Given the description of an element on the screen output the (x, y) to click on. 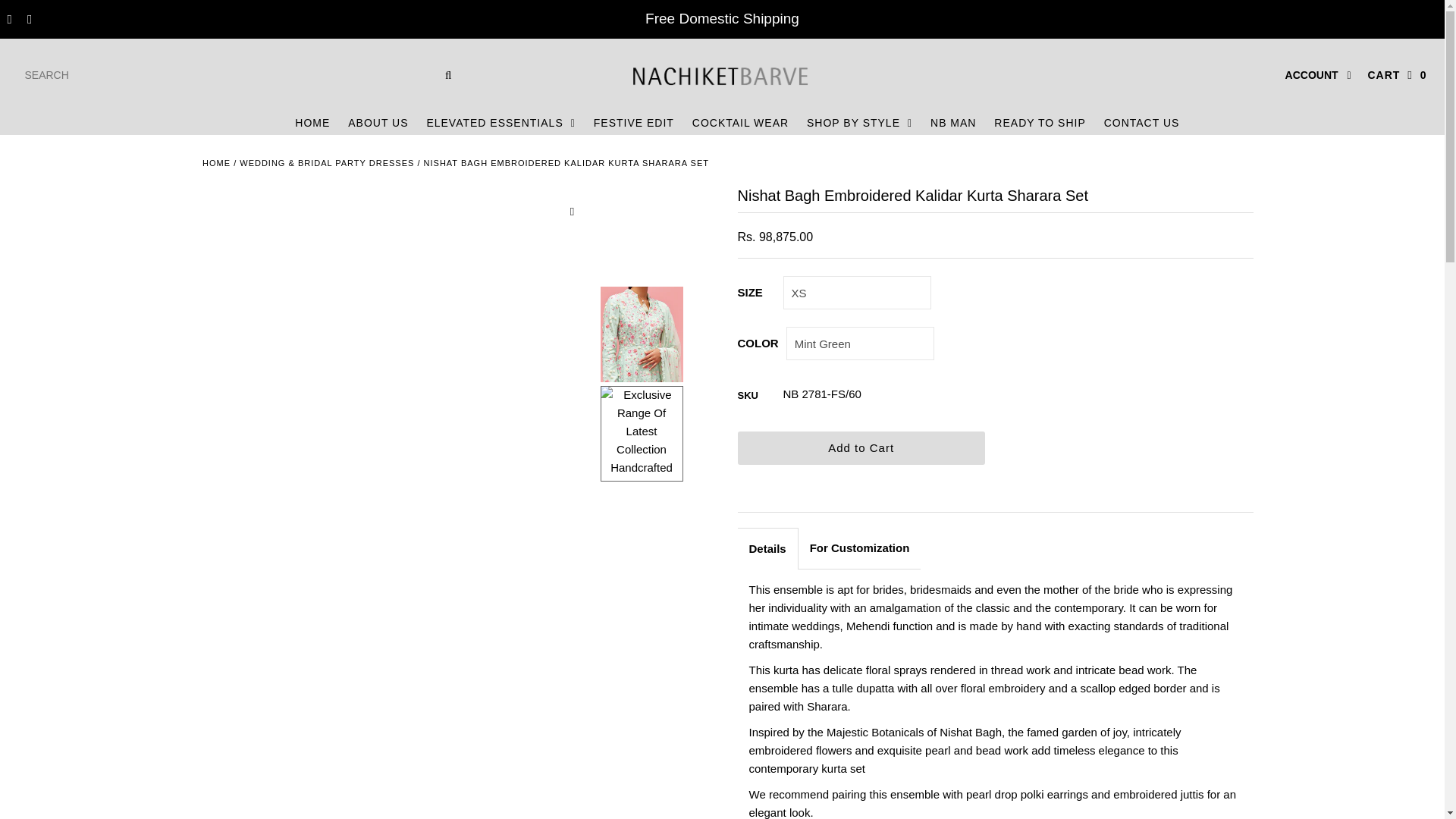
Home (216, 162)
ACCOUNT (1318, 75)
ELEVATED ESSENTIALS (500, 123)
COCKTAIL WEAR (740, 122)
Add to Cart (860, 448)
HOME (311, 122)
FESTIVE EDIT (633, 122)
CART0 (1396, 74)
ABOUT US (377, 122)
SHOP BY STYLE (859, 123)
